Given the description of an element on the screen output the (x, y) to click on. 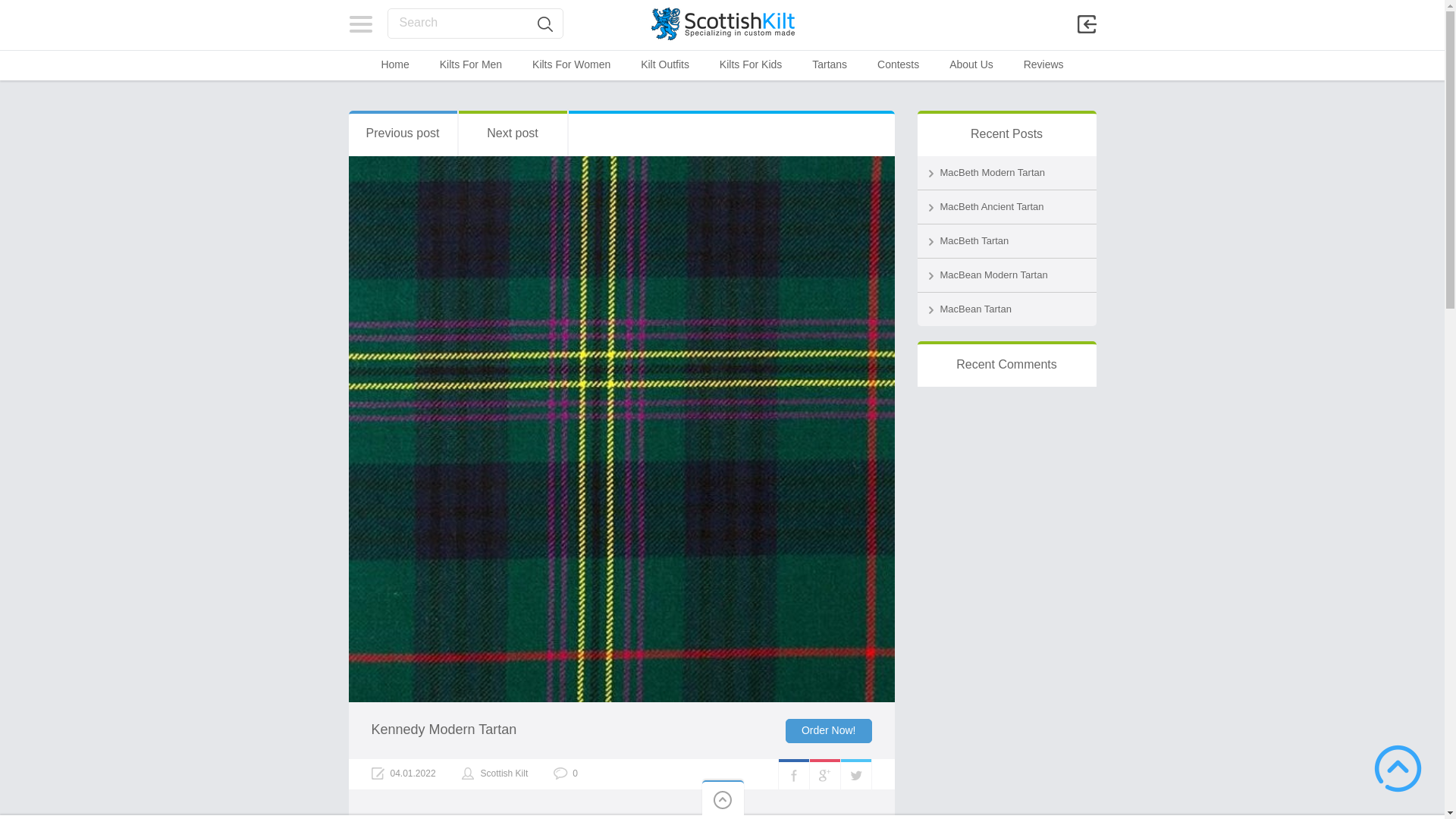
Kilts For Men (470, 64)
Login (1052, 161)
Home (394, 64)
Search (544, 23)
Total comments (565, 773)
Scroll to Top (1398, 768)
Top Kilt (721, 24)
Share on Twitter (855, 774)
Posts by Scottish Kilt (504, 773)
Categories (360, 23)
